Given the description of an element on the screen output the (x, y) to click on. 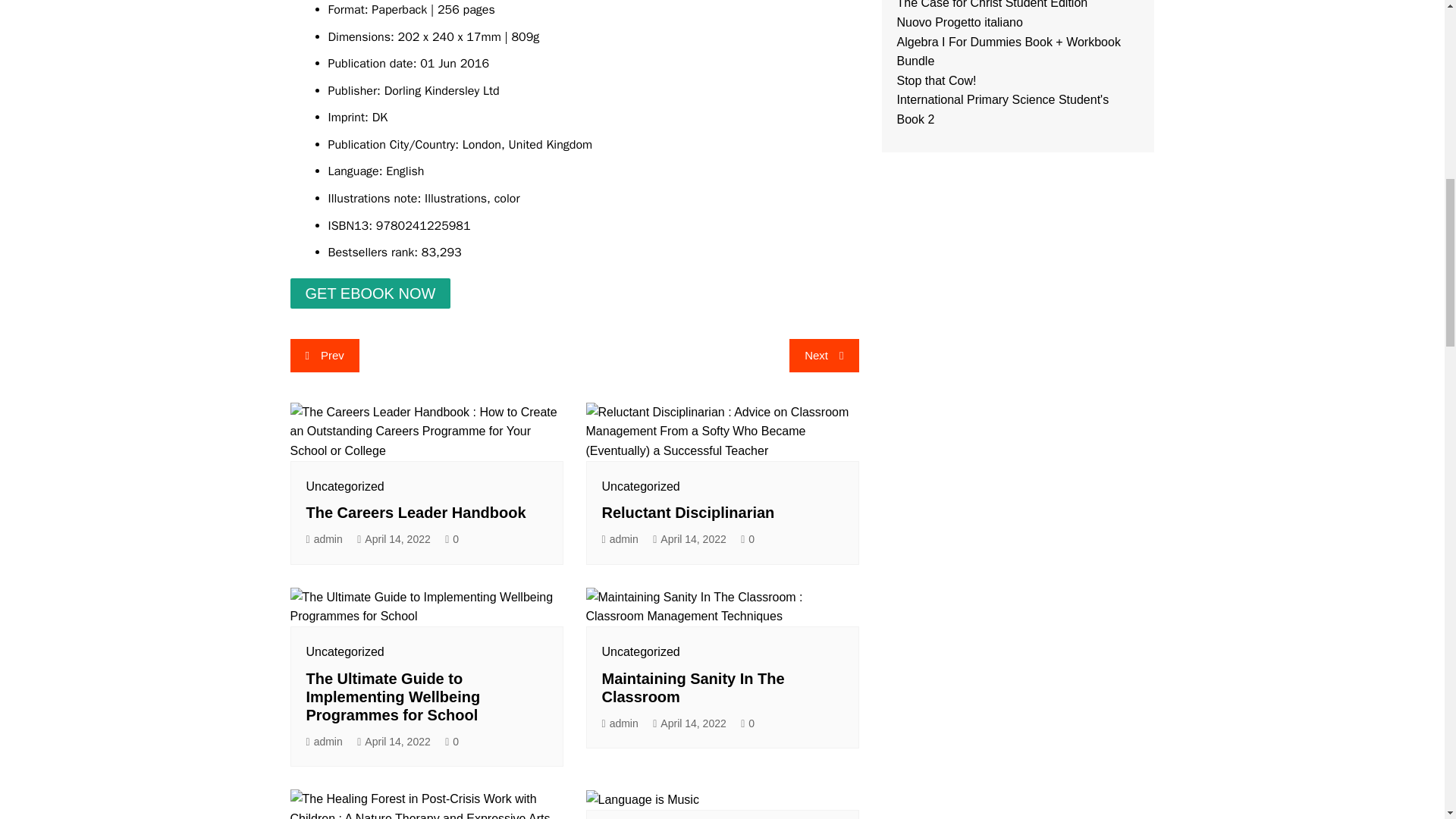
April 14, 2022 (393, 538)
admin (323, 538)
GET EBOOK NOW (369, 294)
GET EBOOK NOW (369, 293)
admin (620, 723)
Next (824, 355)
admin (323, 742)
